Given the description of an element on the screen output the (x, y) to click on. 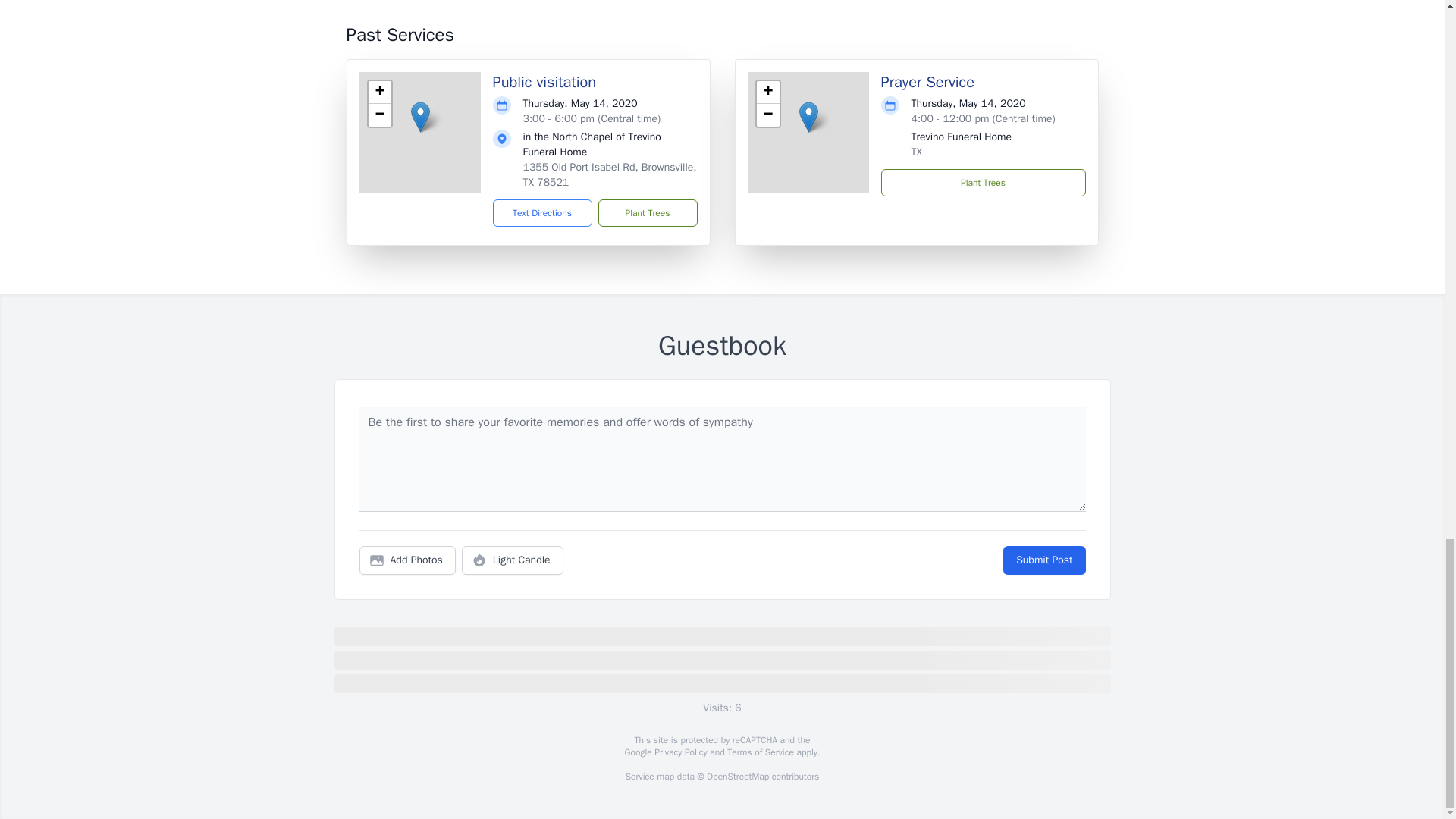
Terms of Service (759, 752)
Zoom out (767, 115)
Zoom in (379, 92)
TX (917, 151)
Light Candle (512, 560)
1355 Old Port Isabel Rd, Brownsville, TX 78521 (609, 174)
Add Photos (407, 560)
Privacy Policy (679, 752)
Plant Trees (983, 182)
Zoom out (379, 115)
Text Directions (542, 212)
Submit Post (1043, 560)
Zoom in (767, 92)
Plant Trees (646, 212)
